Given the description of an element on the screen output the (x, y) to click on. 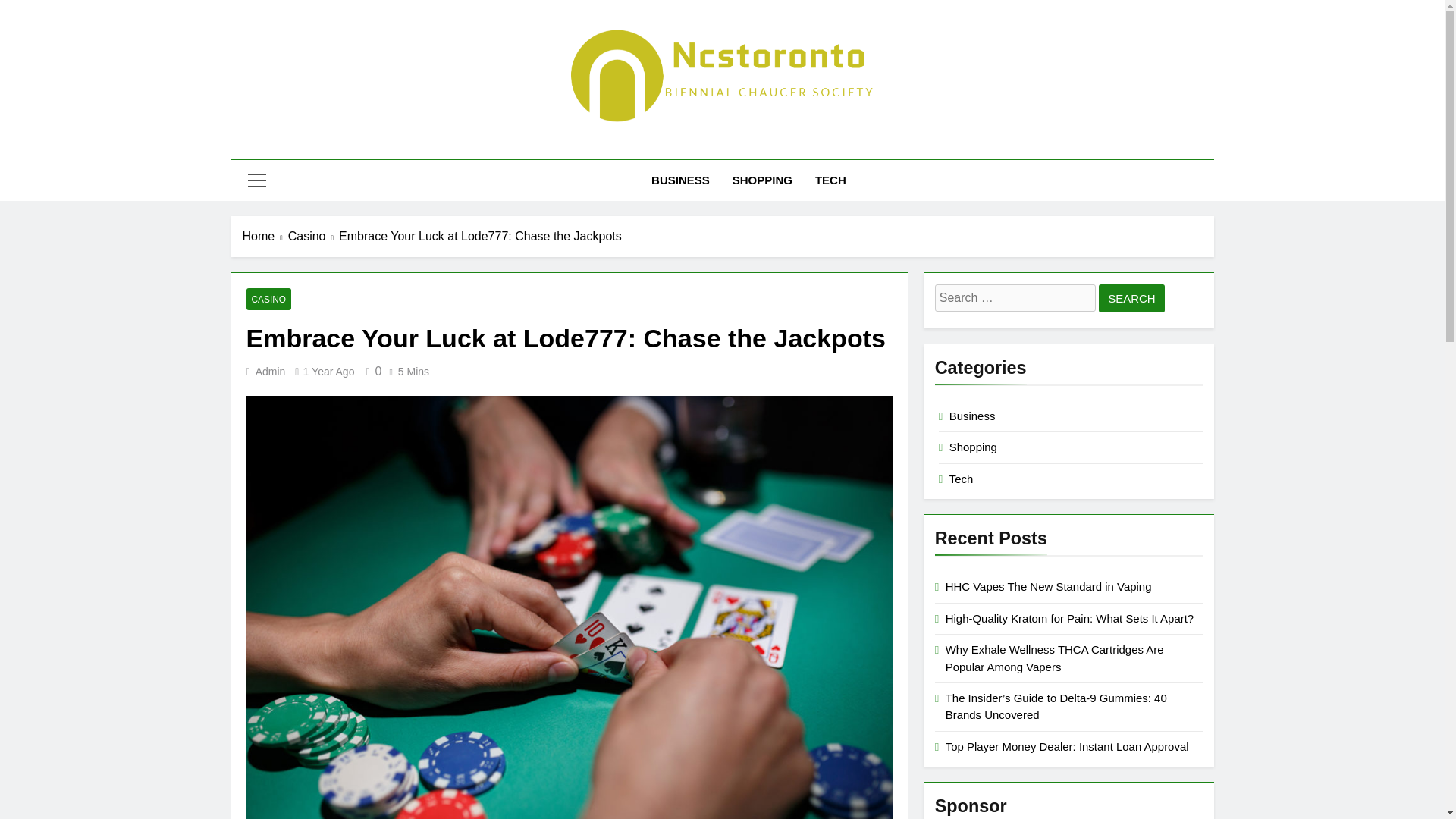
Business (972, 415)
Home (265, 236)
Search (1131, 298)
Search (1131, 298)
SHOPPING (761, 179)
Admin (270, 371)
Shopping (973, 446)
Casino (313, 236)
Tech (961, 478)
0 (370, 370)
